Given the description of an element on the screen output the (x, y) to click on. 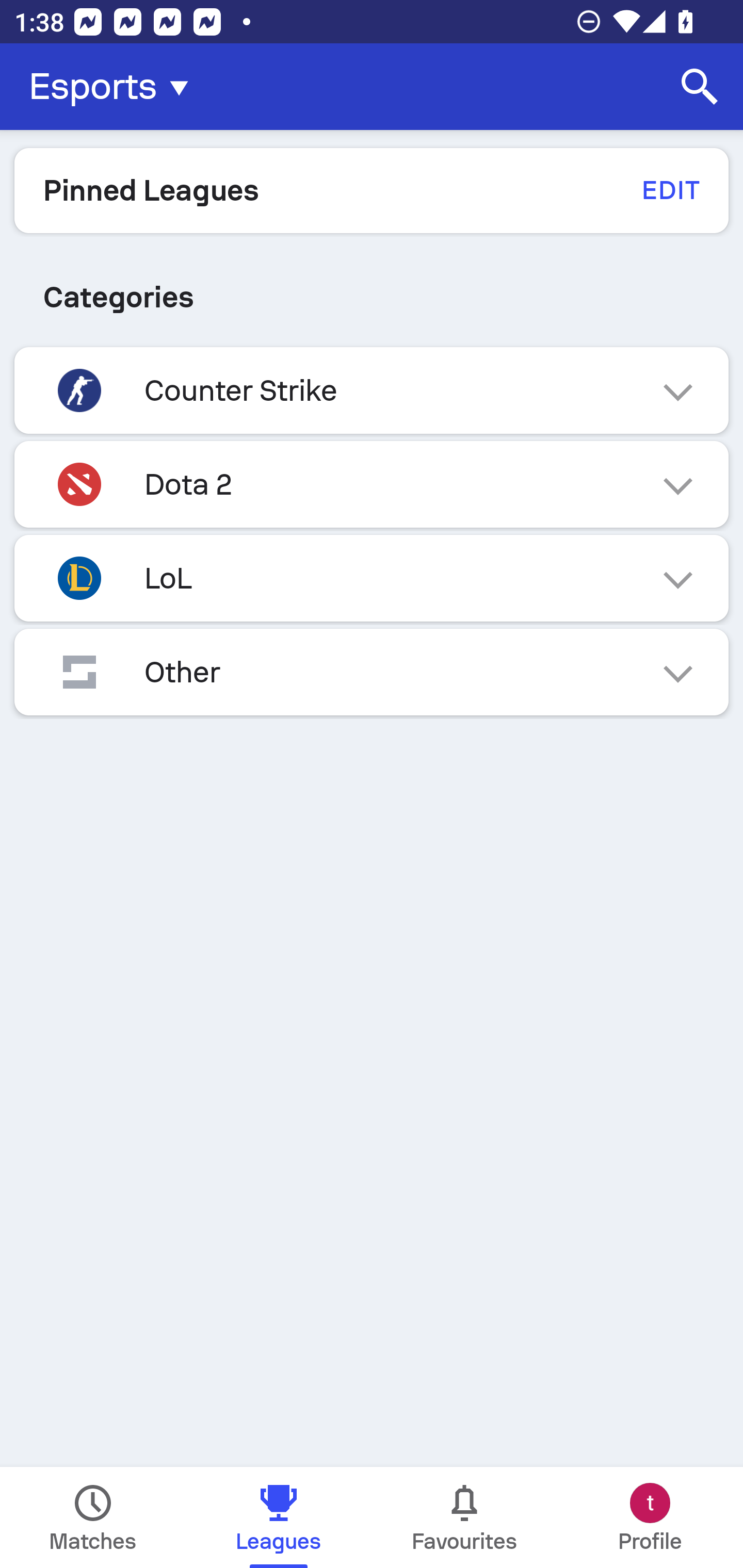
Esports (114, 86)
Search (699, 86)
Pinned Leagues EDIT (371, 190)
EDIT (670, 190)
Categories (371, 296)
Counter Strike (371, 390)
Dota 2 (371, 484)
LoL (371, 577)
Other (371, 671)
Matches (92, 1517)
Favourites (464, 1517)
Profile (650, 1517)
